Given the description of an element on the screen output the (x, y) to click on. 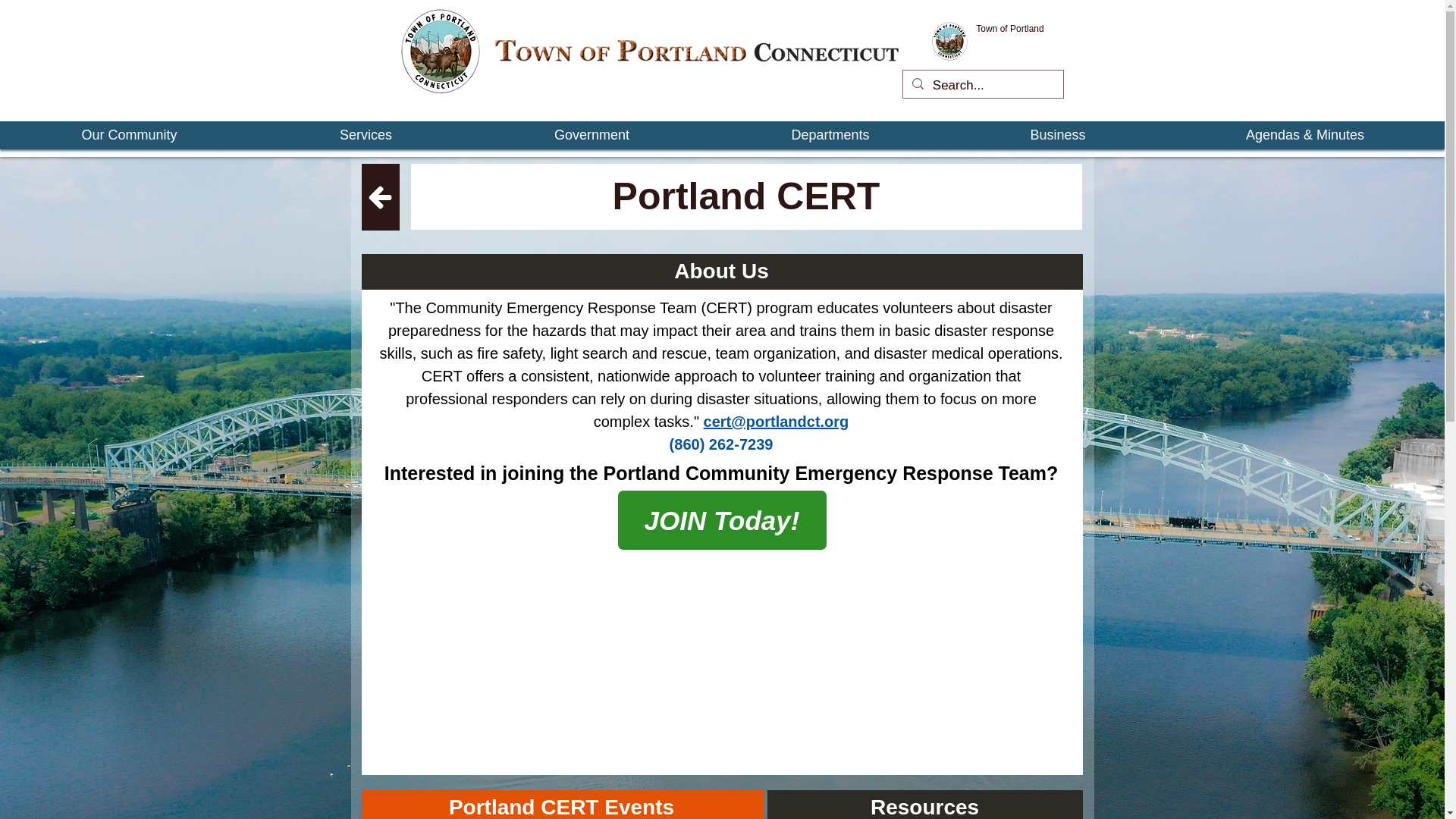
Departments (830, 135)
JOIN Today! (722, 519)
Government (591, 135)
Services (366, 135)
Town of Portland (1009, 29)
Our Community (129, 135)
Business (1058, 135)
